Given the description of an element on the screen output the (x, y) to click on. 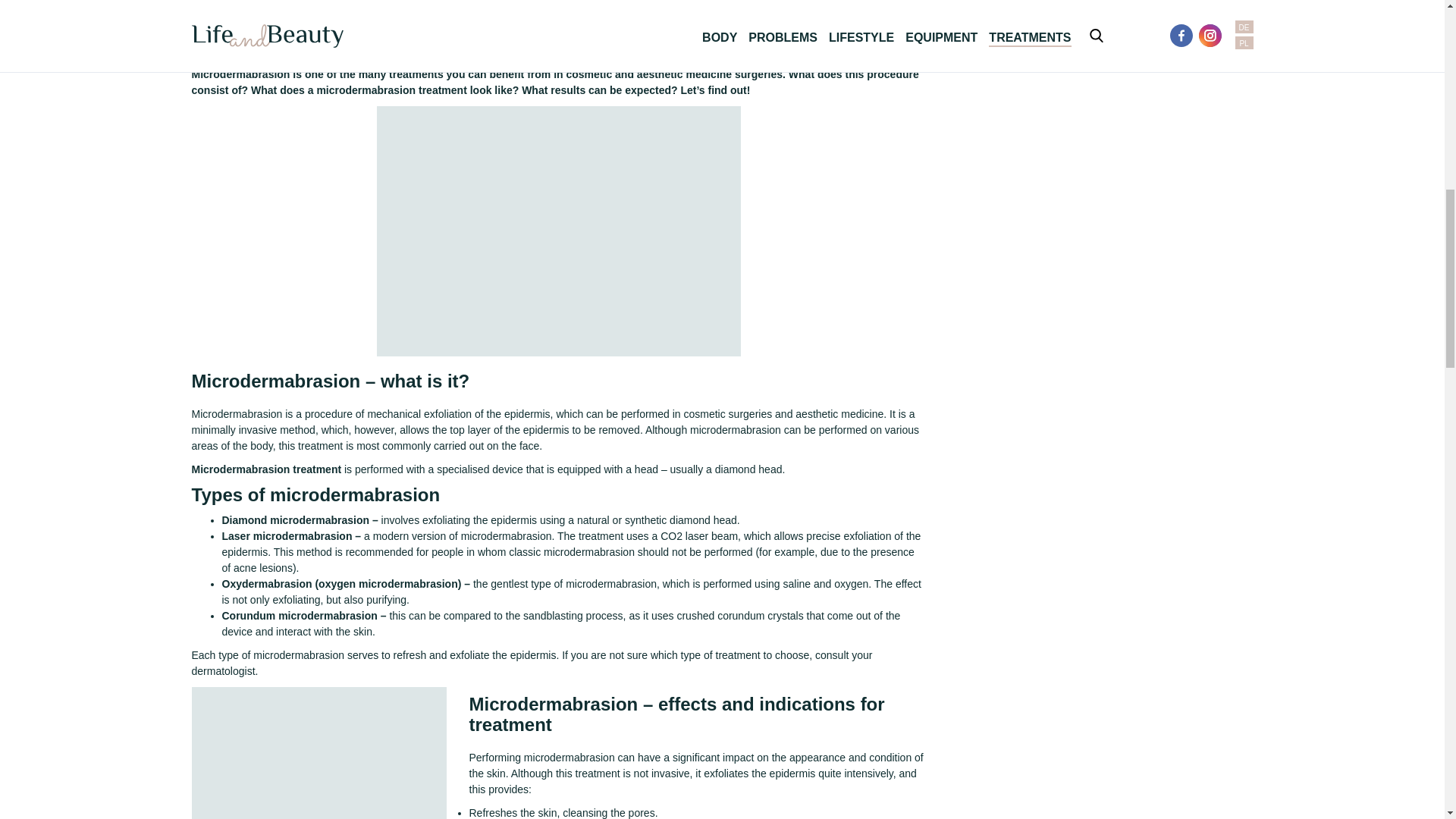
Advertisement (559, 227)
Advertisement (318, 753)
